Given the description of an element on the screen output the (x, y) to click on. 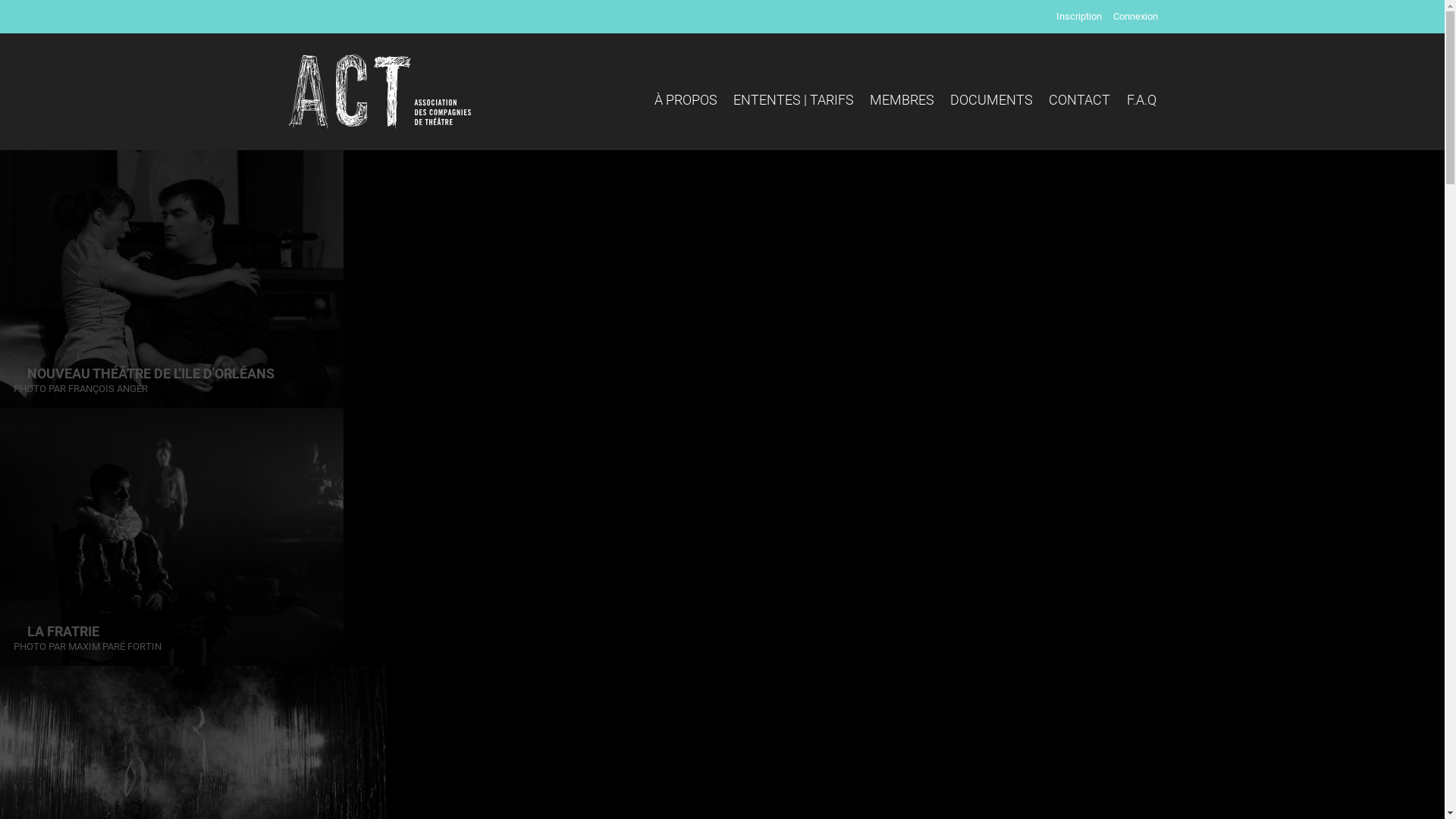
CONTACT Element type: text (1079, 99)
Inscription Element type: text (1078, 15)
MEMBRES Element type: text (901, 99)
F.A.Q Element type: text (1141, 99)
Connexion Element type: text (1135, 15)
DOCUMENTS Element type: text (991, 99)
ENTENTES | TARIFS Element type: text (793, 99)
